Given the description of an element on the screen output the (x, y) to click on. 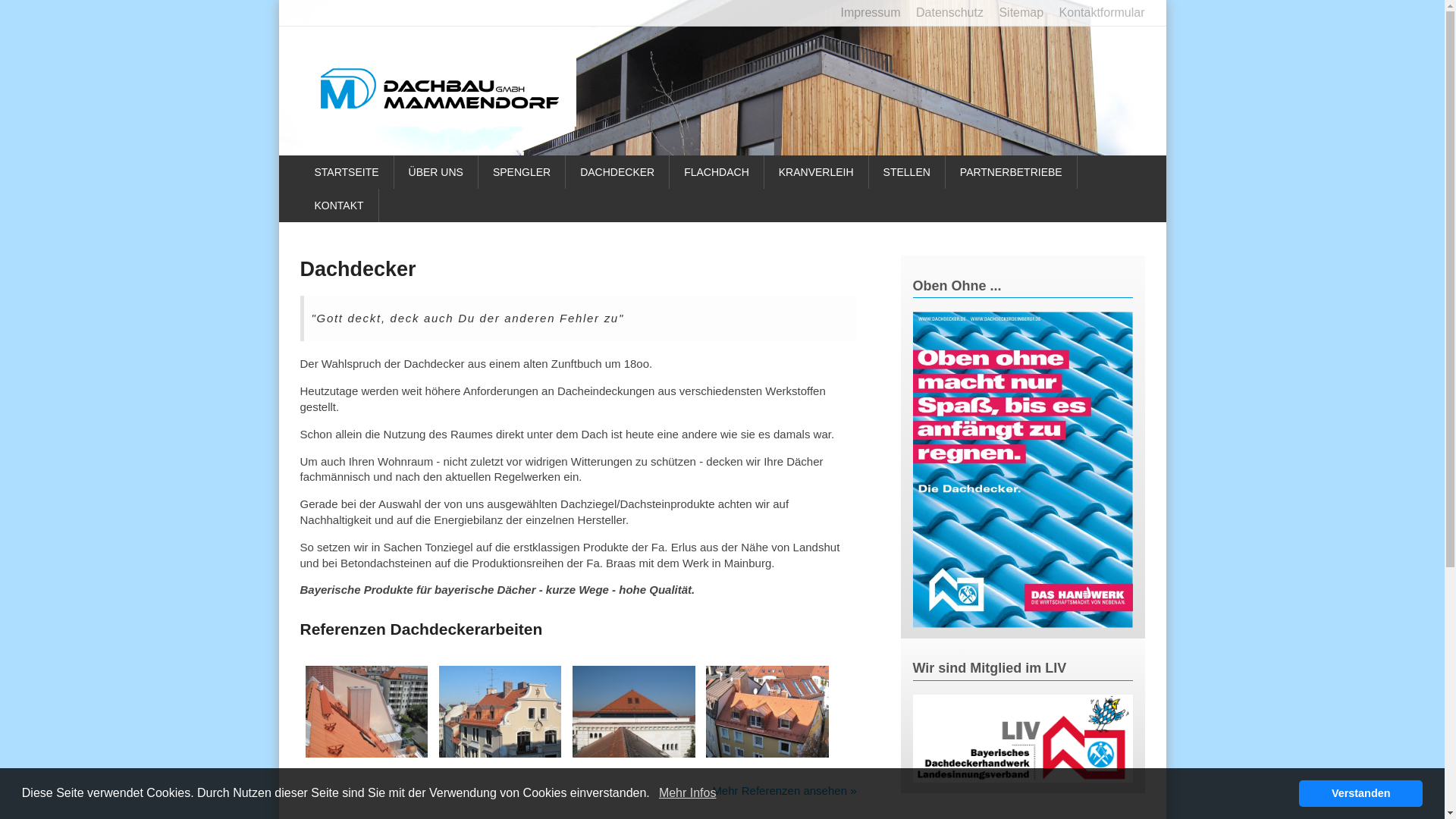
Sitemap Element type: text (1014, 12)
Verstanden Element type: text (1360, 792)
SPENGLER Element type: text (521, 171)
PARTNERBETRIEBE Element type: text (1011, 171)
Bildergalerie Referenzen Element type: hover (633, 752)
Dachabu Mammendorf GmbH Element type: hover (439, 88)
Datenschutz Element type: text (943, 12)
DACHDECKER Element type: text (617, 171)
Kontaktformular Element type: text (1096, 12)
Bildergalerie Referenzen Element type: hover (500, 752)
Impressum Element type: text (864, 12)
Bildergalerie Referenzen Element type: hover (366, 752)
Bildergalerie Referenzen Element type: hover (767, 752)
STARTSEITE Element type: text (347, 171)
STELLEN Element type: text (907, 171)
Mehr Infos Element type: text (687, 792)
FLACHDACH Element type: text (716, 171)
KONTAKT Element type: text (339, 205)
KRANVERLEIH Element type: text (816, 171)
